Given the description of an element on the screen output the (x, y) to click on. 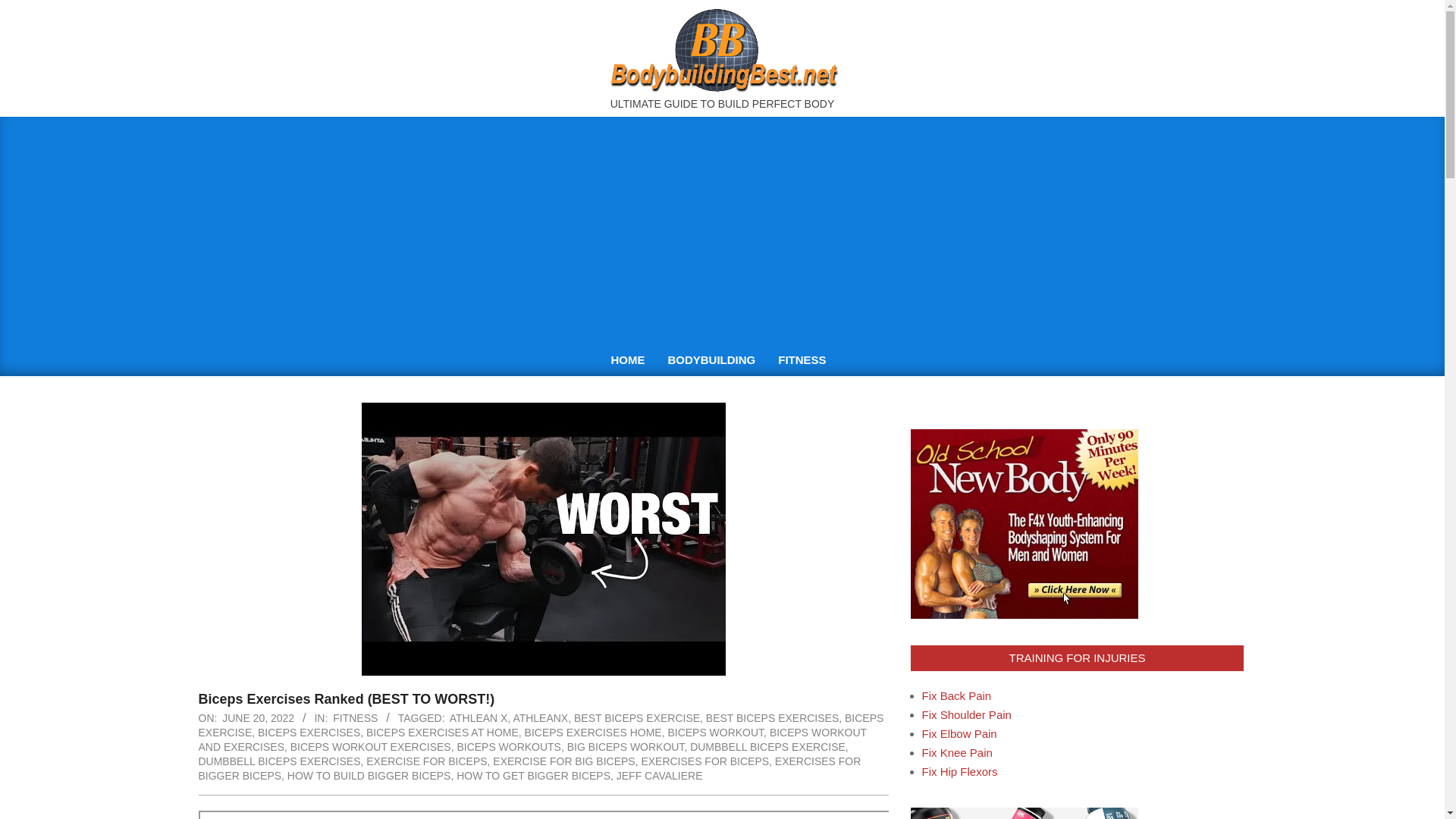
BEST BICEPS EXERCISE (636, 717)
EXERCISE FOR BIG BICEPS (563, 761)
BIG BICEPS WORKOUT (625, 746)
DUMBBELL BICEPS EXERCISES (279, 761)
BICEPS WORKOUT EXERCISES (370, 746)
HOW TO GET BIGGER BICEPS (533, 775)
ATHLEAN X (478, 717)
FITNESS (805, 359)
BEST BICEPS EXERCISES (772, 717)
EXERCISE FOR BICEPS (426, 761)
DUMBBELL BICEPS EXERCISE (767, 746)
BICEPS EXERCISE (540, 724)
BODYBUILDING (711, 359)
BICEPS EXERCISES AT HOME (442, 732)
